Given the description of an element on the screen output the (x, y) to click on. 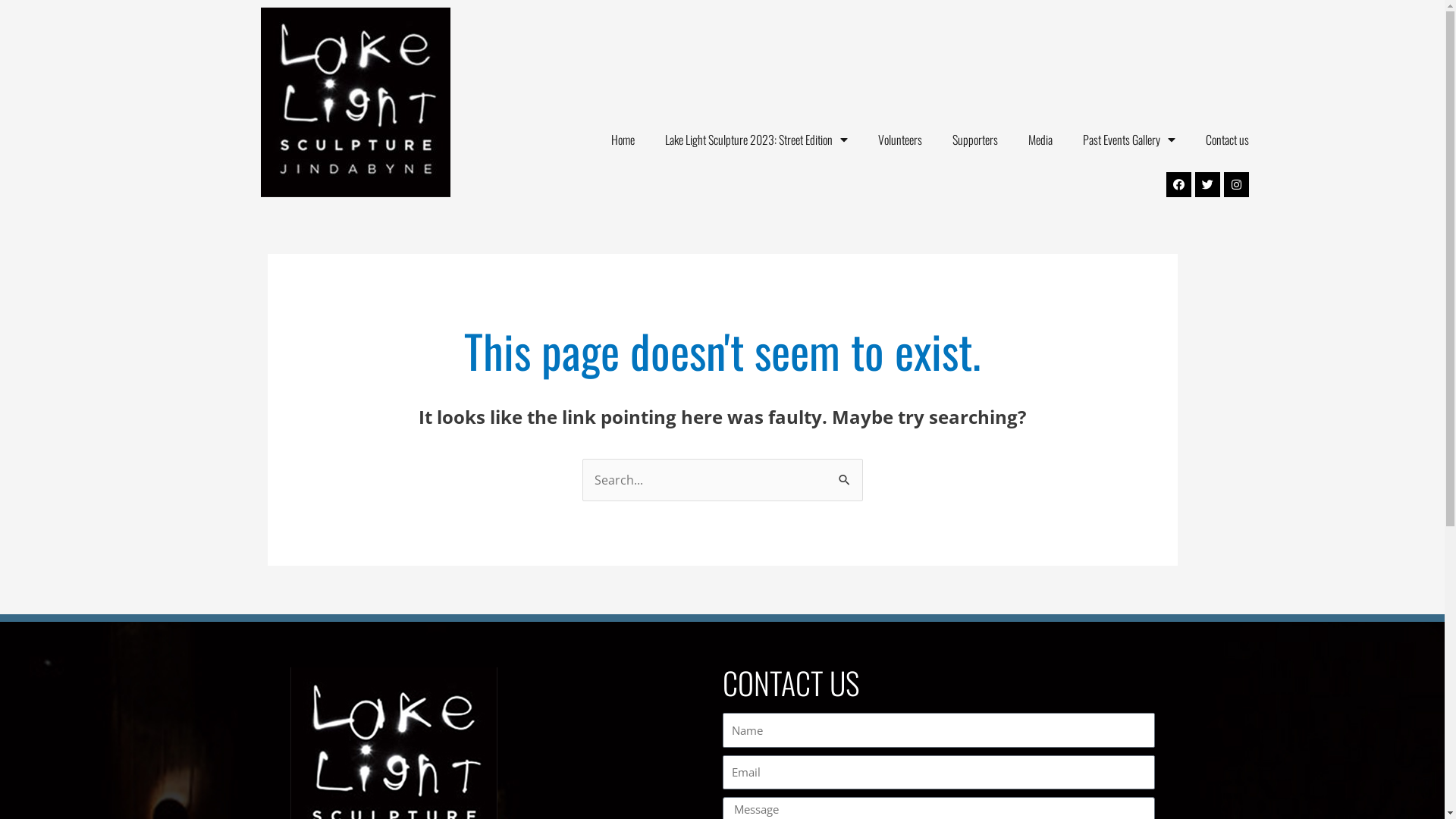
Twitter Element type: text (1207, 184)
Lake Light Sculpture 2023: Street Edition Element type: text (755, 139)
Search Element type: text (845, 479)
Supporters Element type: text (975, 139)
Instagram Element type: text (1235, 184)
Volunteers Element type: text (899, 139)
Home Element type: text (622, 139)
Media Element type: text (1040, 139)
Past Events Gallery Element type: text (1128, 139)
Facebook Element type: text (1178, 184)
Contact us Element type: text (1227, 139)
